Given the description of an element on the screen output the (x, y) to click on. 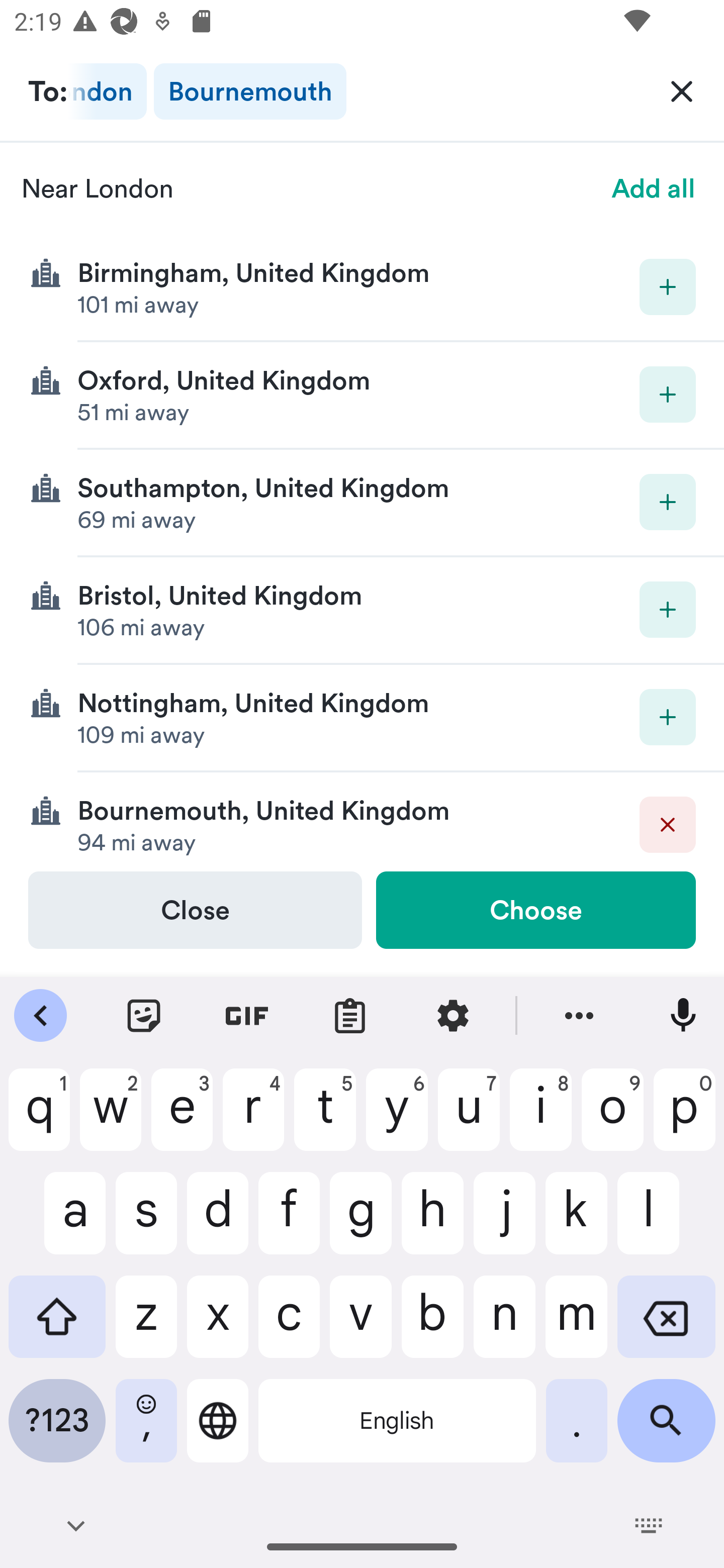
Clear All (681, 90)
London (107, 91)
Bournemouth (249, 91)
Add all (653, 187)
Add destination (667, 286)
Add destination Oxford, United Kingdom 51 mi away (362, 395)
Add destination (667, 394)
Add destination (667, 501)
Add destination (667, 609)
Add destination (667, 716)
Delete Bournemouth, United Kingdom 94 mi away (362, 821)
Delete (667, 824)
Close (195, 909)
Choose (535, 909)
